Given the description of an element on the screen output the (x, y) to click on. 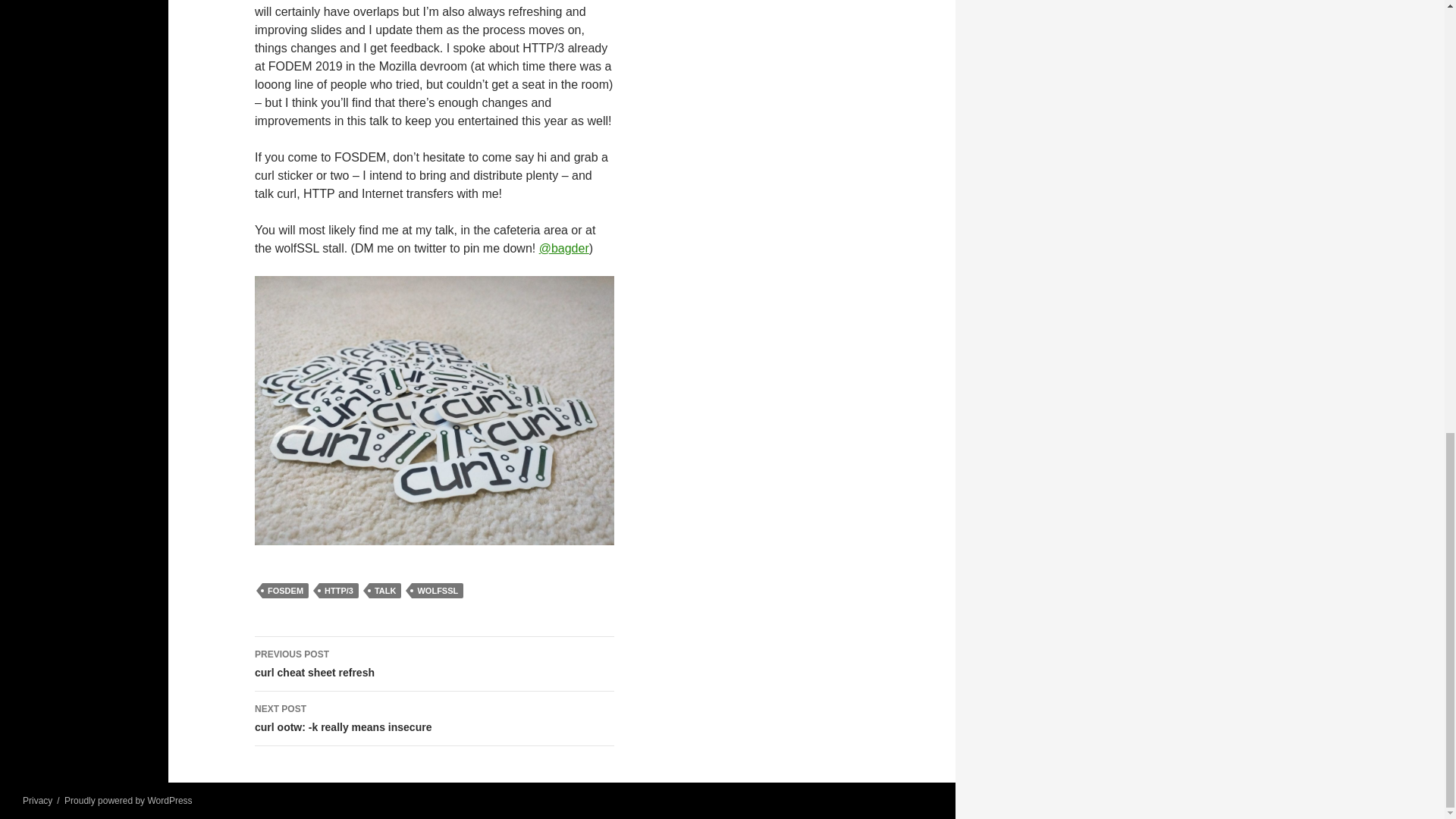
FOSDEM (285, 590)
TALK (434, 718)
WOLFSSL (385, 590)
